Given the description of an element on the screen output the (x, y) to click on. 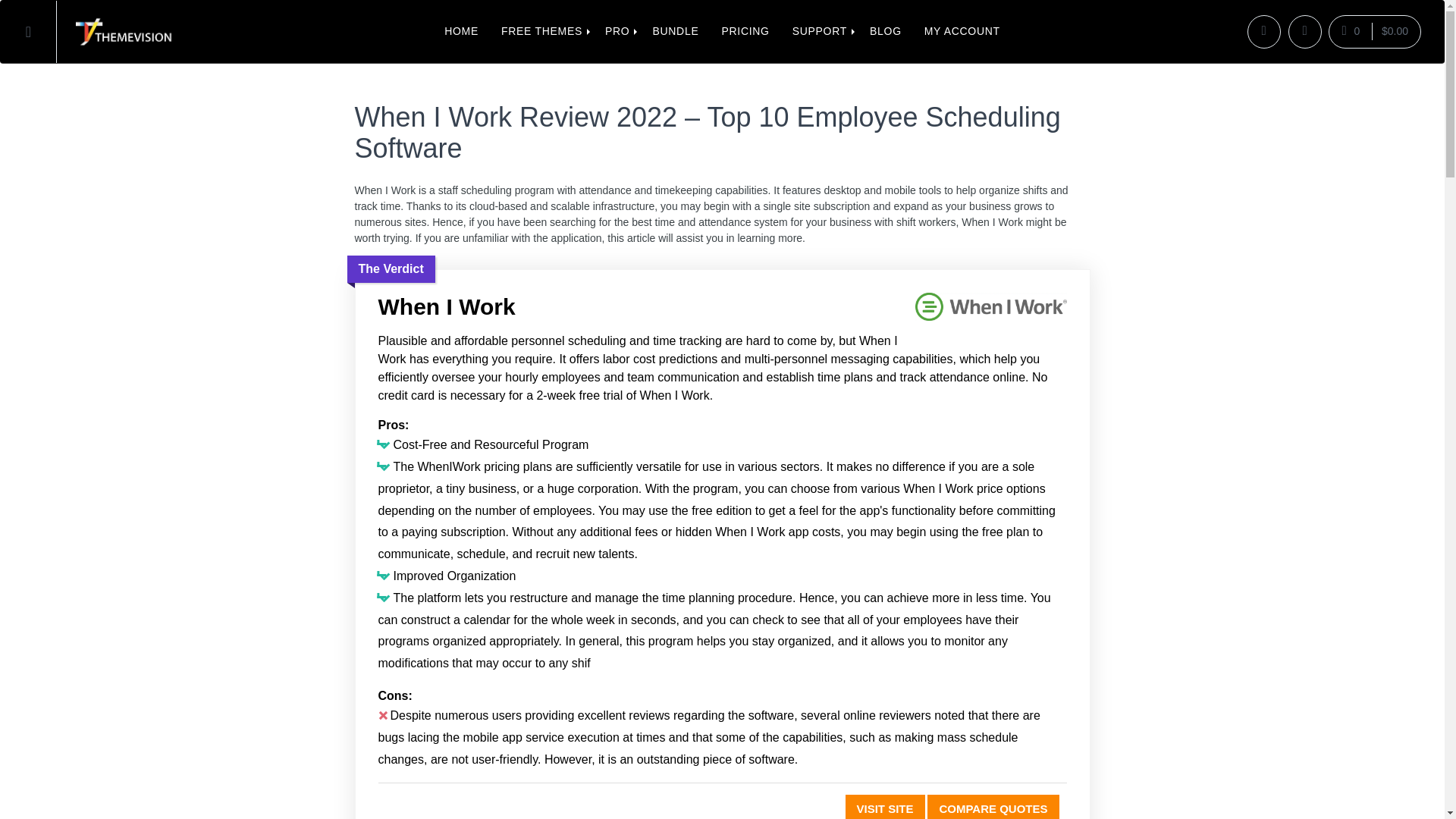
When I Work (989, 310)
FREE THEMES (541, 31)
When I Work (992, 806)
When I Work (884, 806)
View Cart (1375, 31)
HOME (460, 31)
When I Work (721, 306)
